Given the description of an element on the screen output the (x, y) to click on. 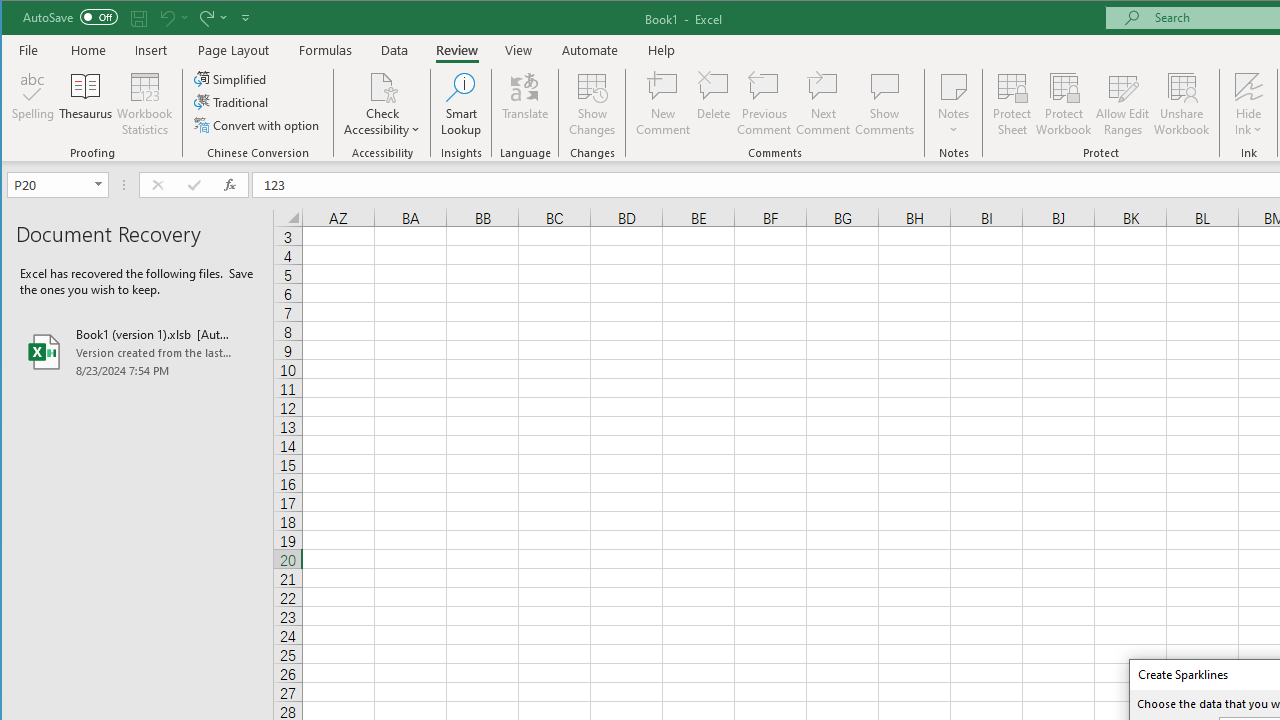
Spelling... (33, 104)
Hide Ink (1248, 104)
Notes (954, 104)
Previous Comment (763, 104)
